Given the description of an element on the screen output the (x, y) to click on. 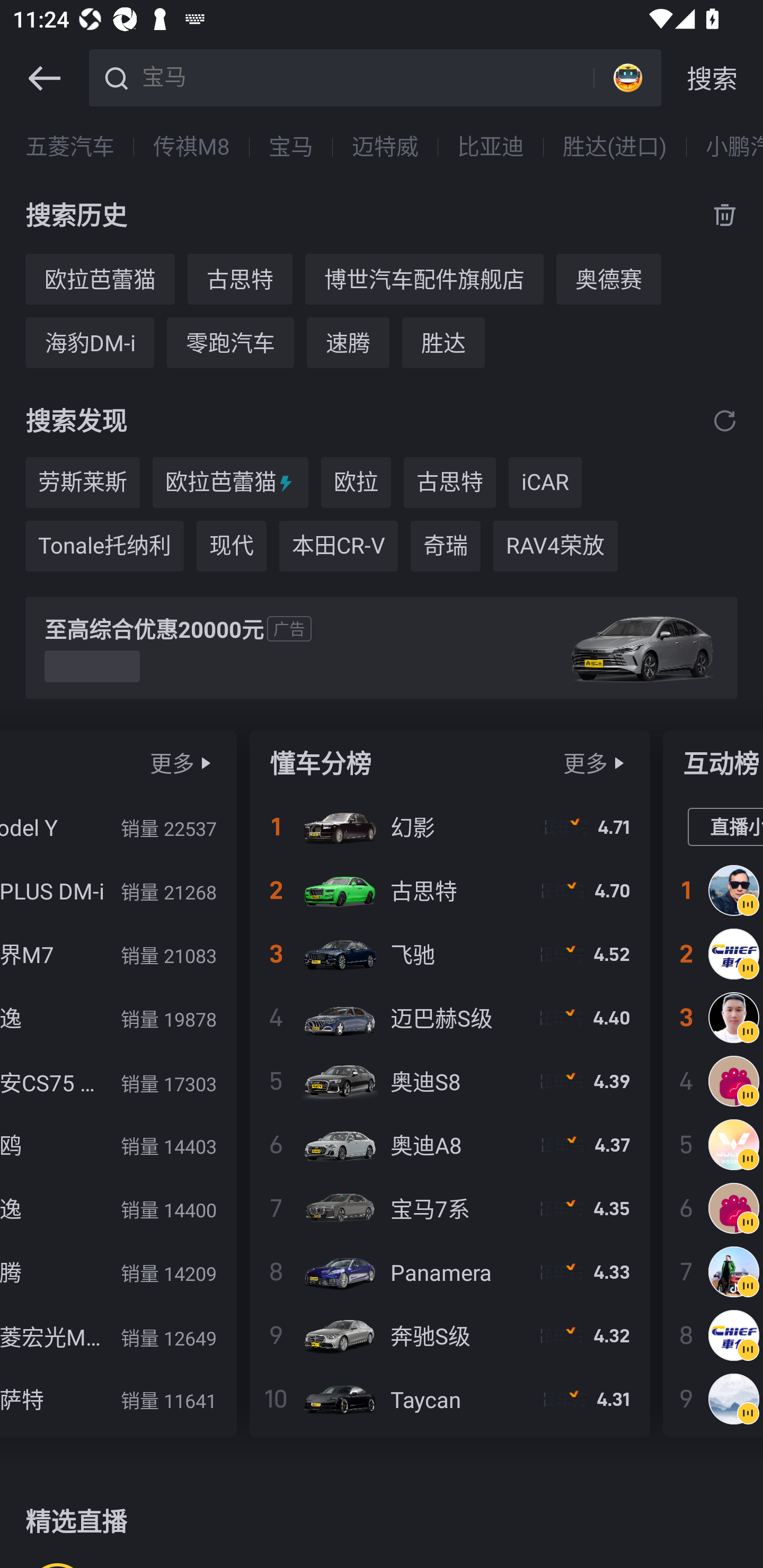
 宝马 (364, 76)
 (44, 78)
搜索 (711, 78)
五菱汽车 (69, 147)
传祺M8 (191, 147)
宝马 (290, 147)
迈特威 (384, 147)
比亚迪 (490, 147)
胜达(进口) (614, 147)
欧拉芭蕾猫 (99, 278)
古思特 (239, 278)
博世汽车配件旗舰店 (424, 278)
奥德赛 (608, 278)
海豹DM-i (89, 342)
零跑汽车 (230, 342)
速腾 (347, 342)
胜达 (443, 342)
 (724, 419)
劳斯莱斯 (82, 482)
欧拉芭蕾猫 (230, 482)
欧拉 (355, 482)
古思特 (449, 482)
iCAR (544, 482)
Tonale托纳利 (104, 546)
现代 (231, 546)
本田CR-V (338, 546)
奇瑞 (445, 546)
RAV4荣放 (555, 546)
至高综合优惠20000元 广告 立享优惠 (381, 648)
更多 (172, 762)
更多 (585, 762)
 (205, 763)
 (619, 763)
Model Y 销量 22537 (117, 826)
幻影 4.71 (449, 826)
秦PLUS DM-i 销量 21268 (117, 890)
古思特 4.70 (449, 890)
问界M7 销量 21083 (117, 953)
飞驰 4.52 (449, 953)
轩逸 销量 19878 (117, 1017)
迈巴赫S级 4.40 (449, 1017)
长安CS75 PLUS 销量 17303 (117, 1080)
奥迪S8 4.39 (449, 1080)
海鸥 销量 14403 (117, 1144)
奥迪A8 4.37 (449, 1144)
朗逸 销量 14400 (117, 1208)
宝马7系 4.35 (449, 1208)
速腾 销量 14209 (117, 1271)
Panamera 4.33 (449, 1271)
五菱宏光MINIEV 销量 12649 (117, 1335)
奔驰S级 4.32 (449, 1335)
帕萨特 销量 11641 (117, 1398)
Taycan 4.31 (449, 1398)
